Given the description of an element on the screen output the (x, y) to click on. 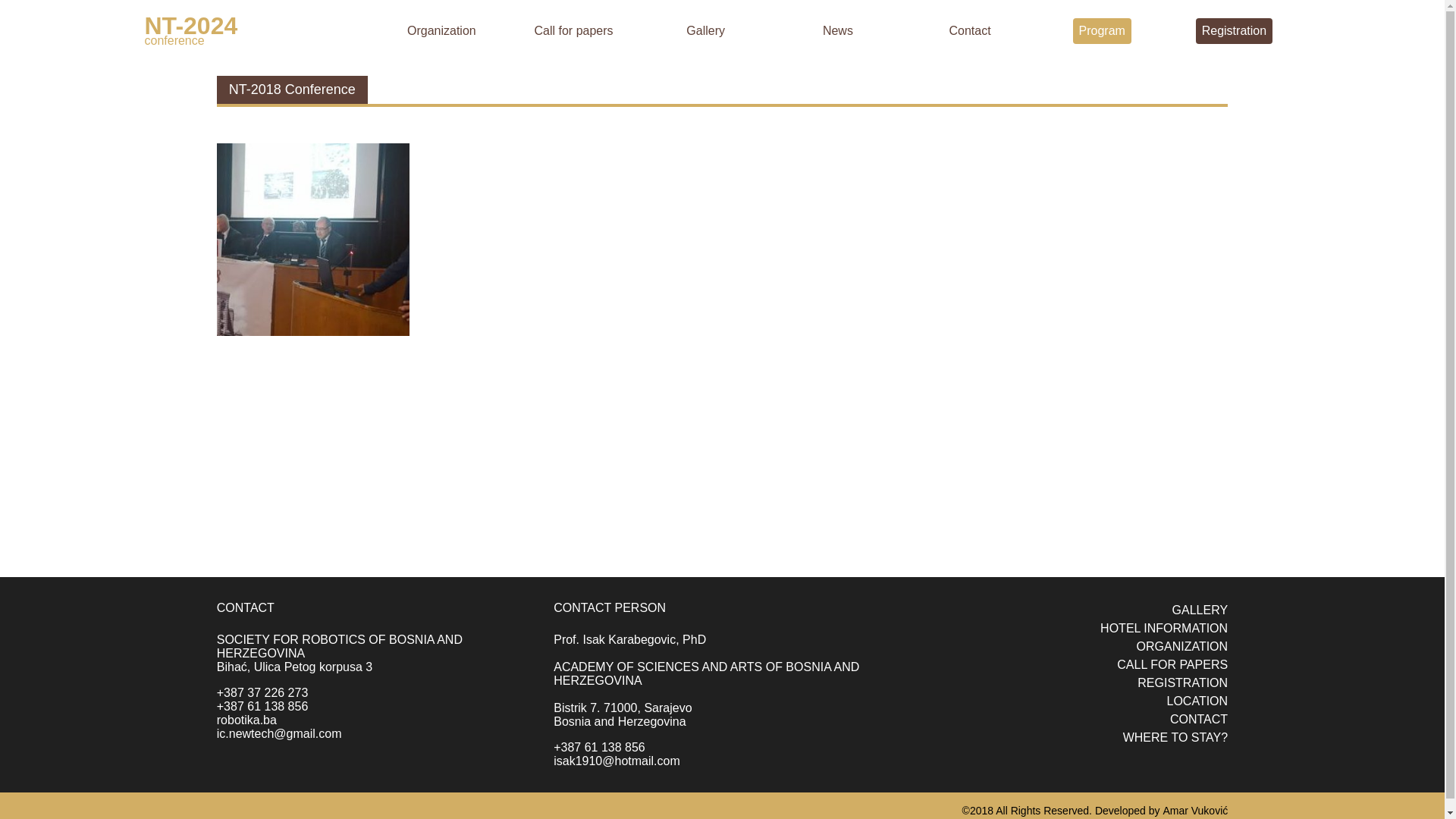
NT-2024
conference Element type: text (259, 29)
CALL FOR PAPERS Element type: text (1172, 664)
GALLERY Element type: text (1200, 609)
LOCATION Element type: text (1196, 700)
HOTEL INFORMATION Element type: text (1163, 627)
CONTACT Element type: text (1198, 718)
ORGANIZATION Element type: text (1182, 646)
Call for papers Element type: text (573, 30)
Program Element type: text (1102, 30)
WHERE TO STAY? Element type: text (1175, 737)
News Element type: text (837, 30)
REGISTRATION Element type: text (1182, 682)
Gallery Element type: text (705, 30)
Registration Element type: text (1233, 30)
Contact Element type: text (969, 30)
